Given the description of an element on the screen output the (x, y) to click on. 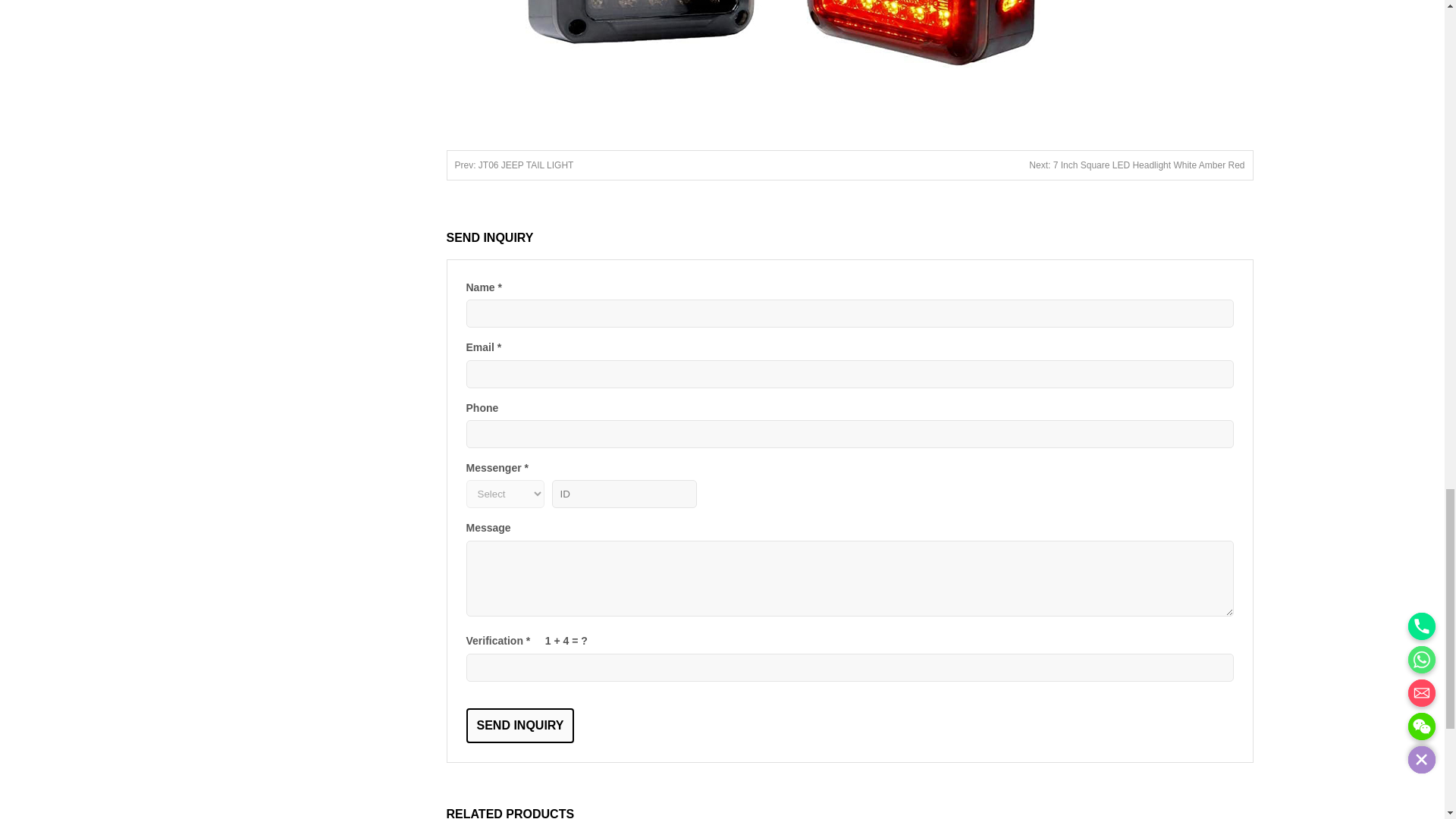
Send Inquiry (519, 725)
